Given the description of an element on the screen output the (x, y) to click on. 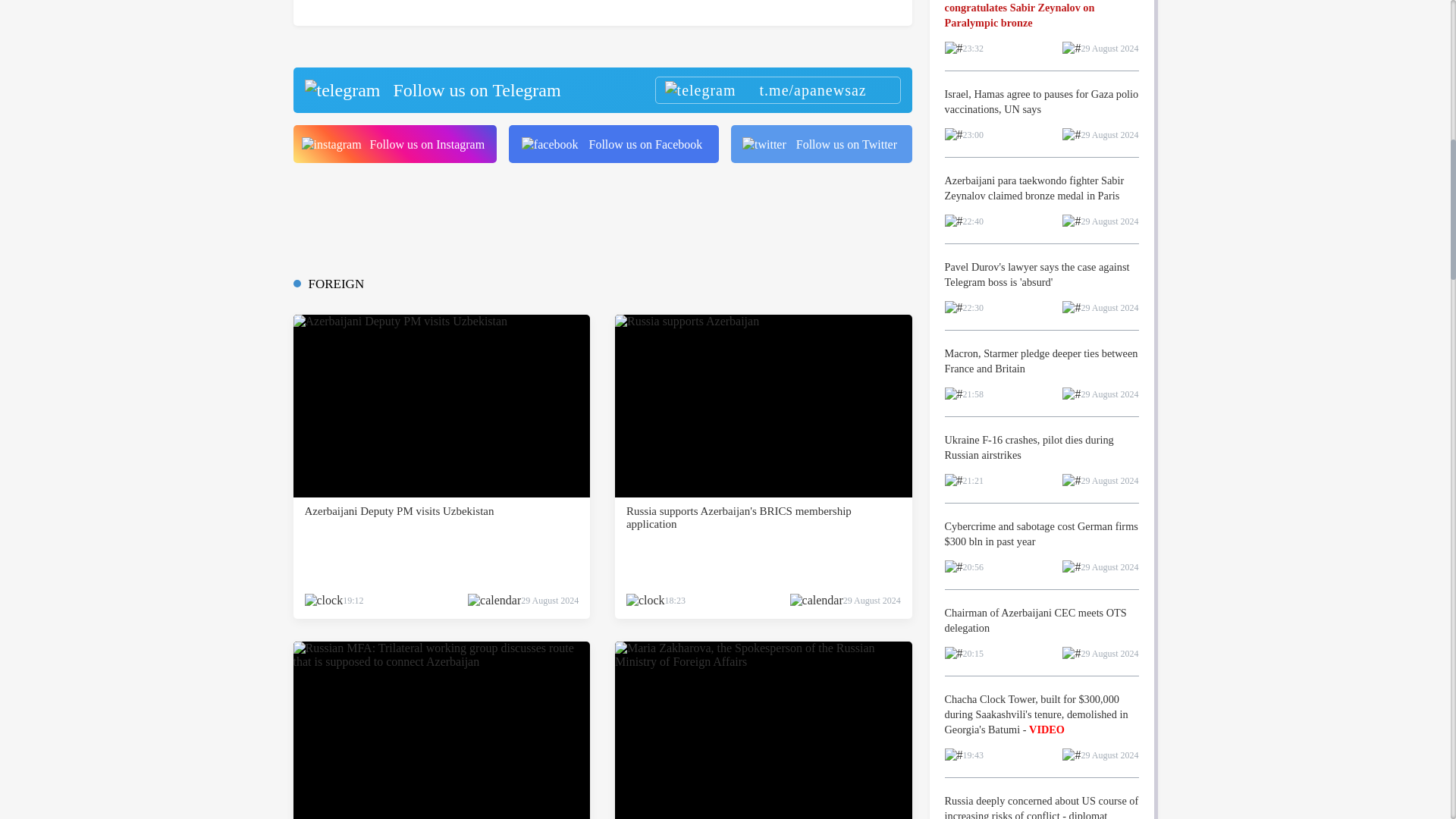
Follow us on Facebook (613, 143)
Follow us on Twitter (821, 143)
Follow us on Telegram (601, 90)
Follow us on Instagram (394, 143)
